Given the description of an element on the screen output the (x, y) to click on. 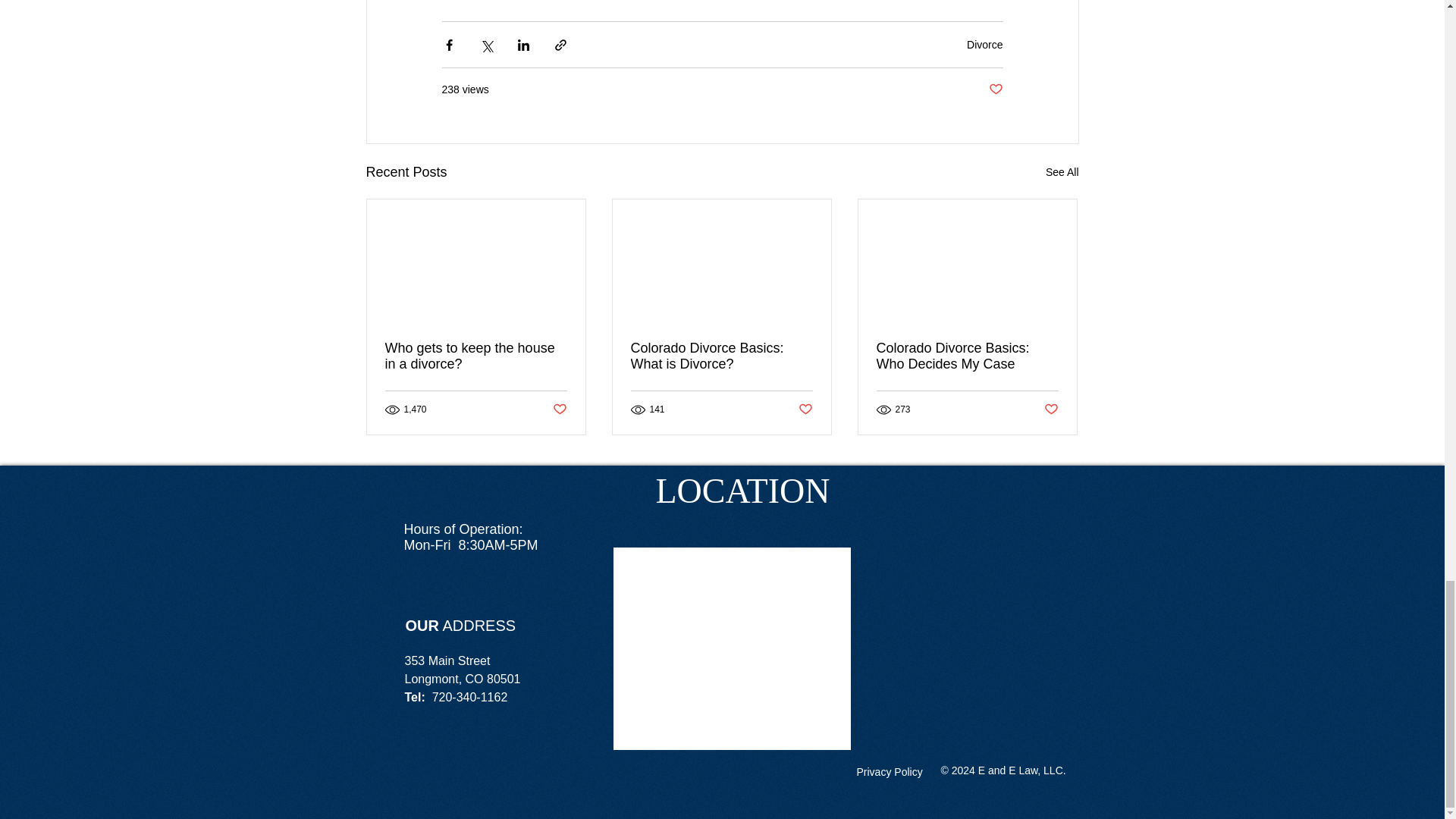
Divorce (984, 43)
Post not marked as liked (995, 89)
See All (1061, 172)
